Given the description of an element on the screen output the (x, y) to click on. 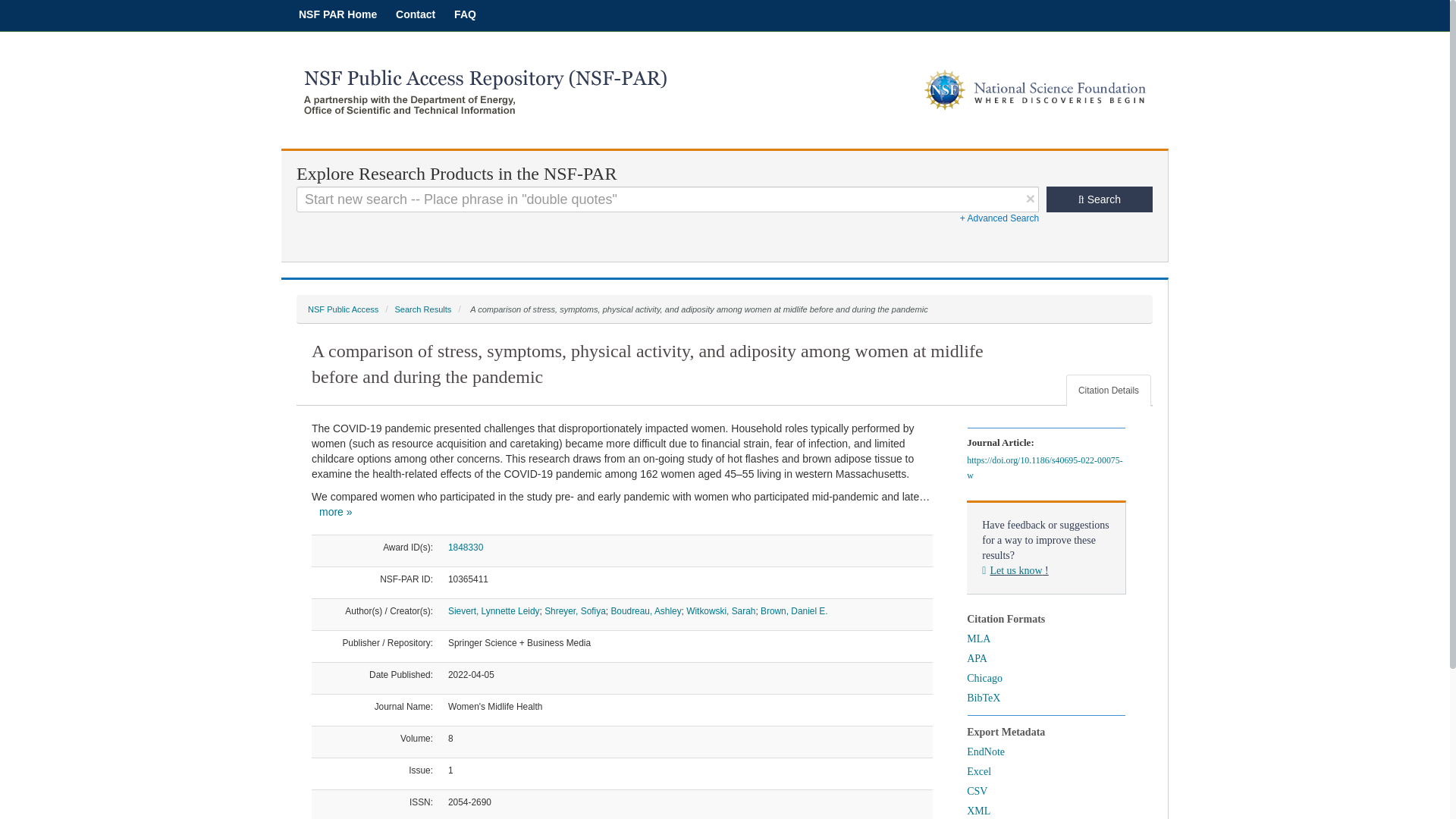
Contact (415, 14)
FAQ (464, 14)
Citation Details (1108, 390)
Search Results (422, 308)
NSF PAR Contact (415, 14)
NSF Public Access (342, 308)
Sievert, Lynnette Leidy (494, 611)
Witkowski, Sarah (720, 611)
Shreyer, Sofiya (574, 611)
NSF PAR Home (337, 14)
